Given the description of an element on the screen output the (x, y) to click on. 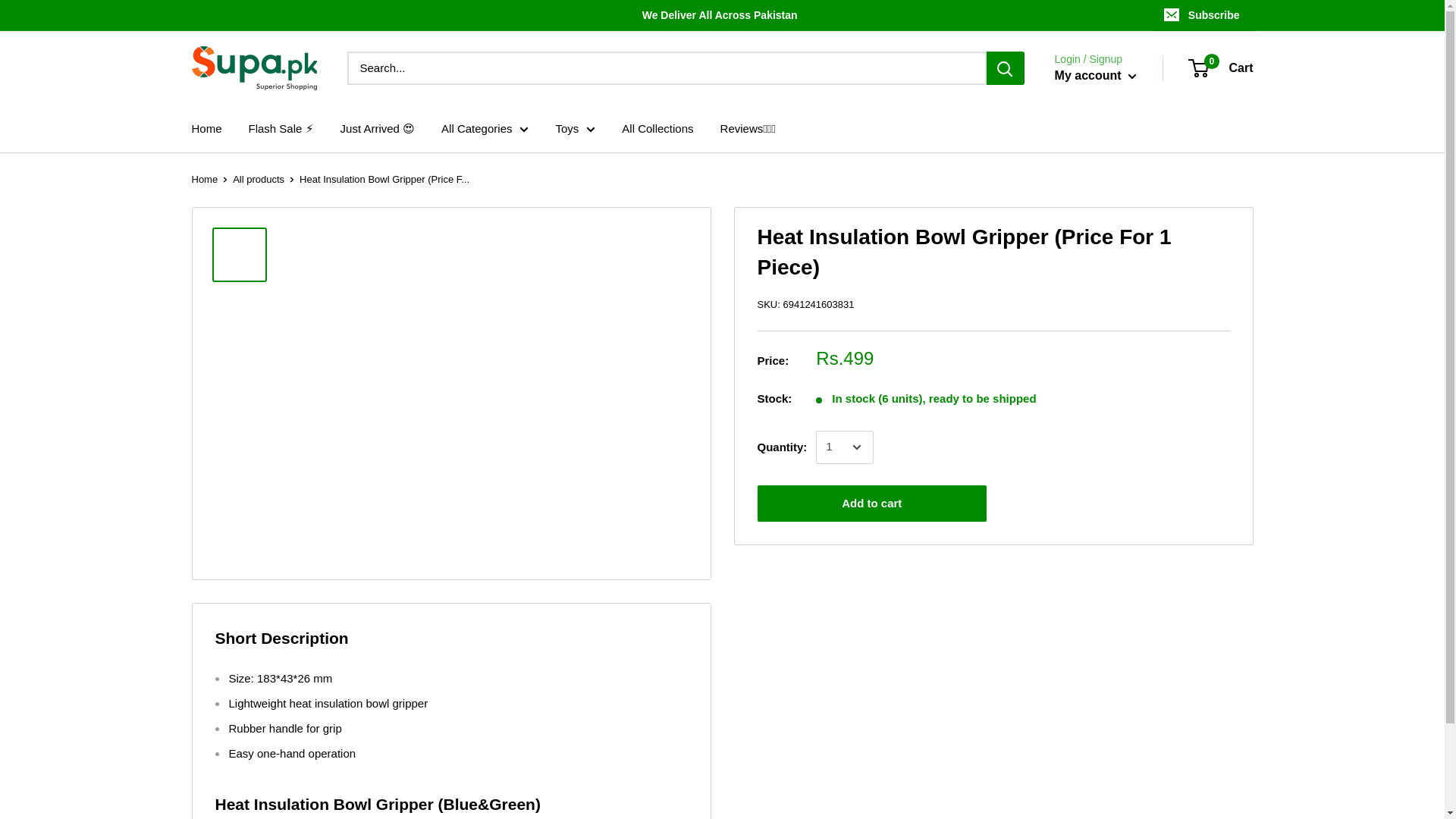
We Deliver All Across Pakistan (672, 15)
Subscribe (1203, 15)
